Given the description of an element on the screen output the (x, y) to click on. 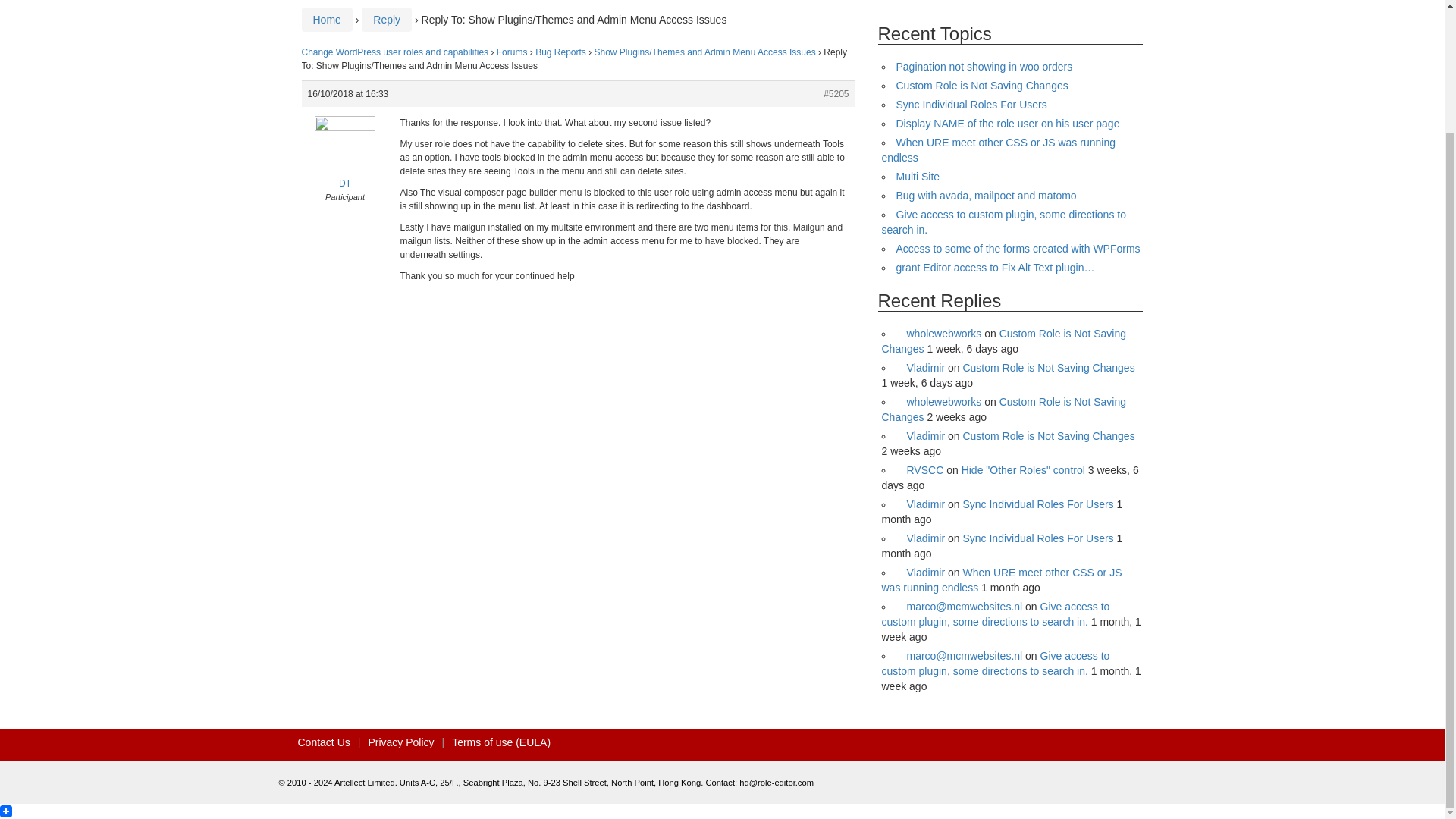
Multi Site (918, 176)
Custom Role is Not Saving Changes (1002, 409)
wholewebworks (938, 401)
Forums (511, 51)
Custom Role is Not Saving Changes (1048, 435)
Vladimir (920, 435)
DT (344, 162)
View Vladimir's profile (920, 435)
Change WordPress user roles and capabilities (395, 51)
RVSCC (919, 469)
